Given the description of an element on the screen output the (x, y) to click on. 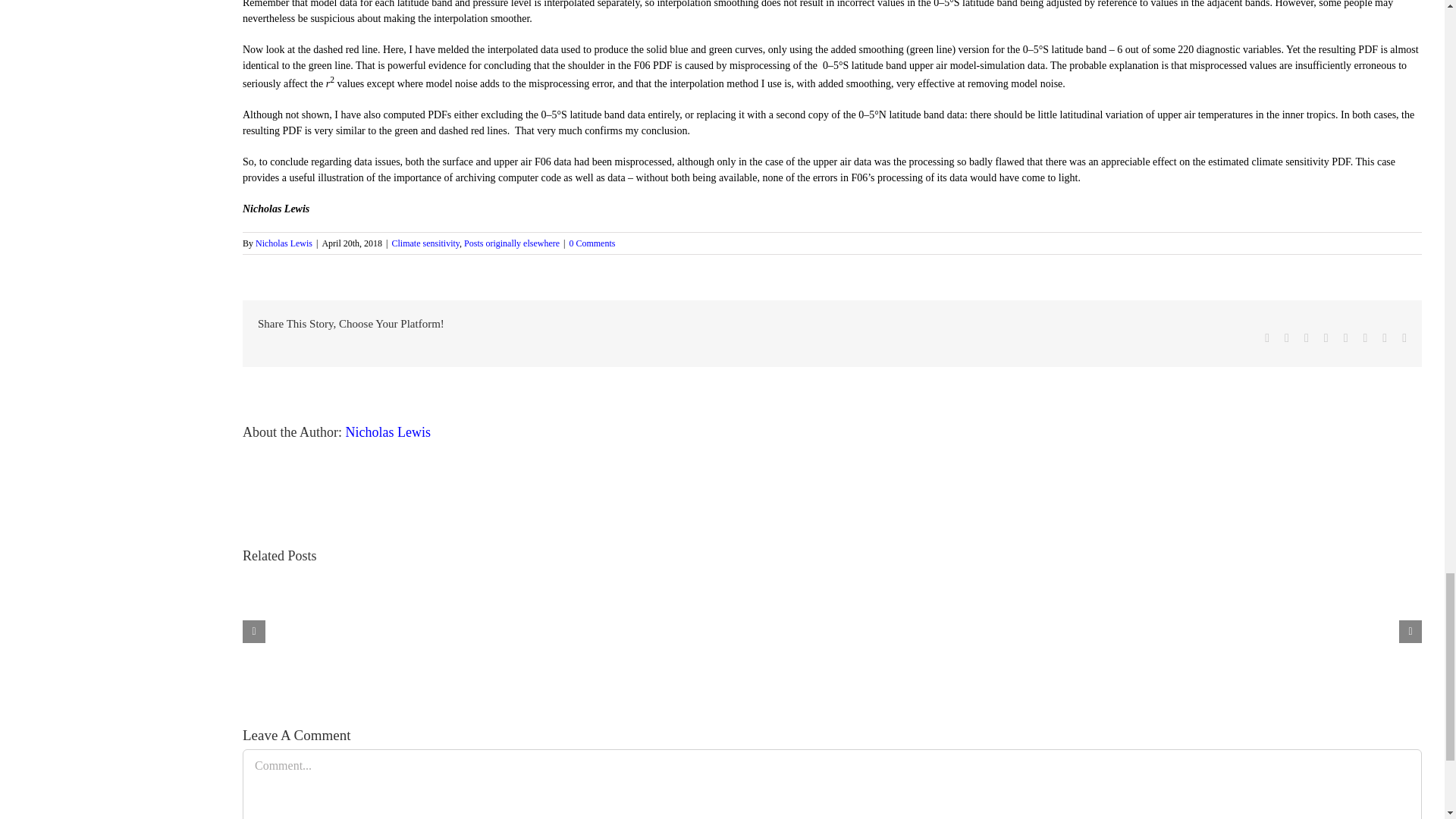
Nicholas Lewis (388, 432)
Climate sensitivity (425, 243)
Posts originally elsewhere (511, 243)
Posts by Nicholas Lewis (284, 243)
Nicholas Lewis (284, 243)
0 Comments (591, 243)
Posts by Nicholas Lewis (388, 432)
